Given the description of an element on the screen output the (x, y) to click on. 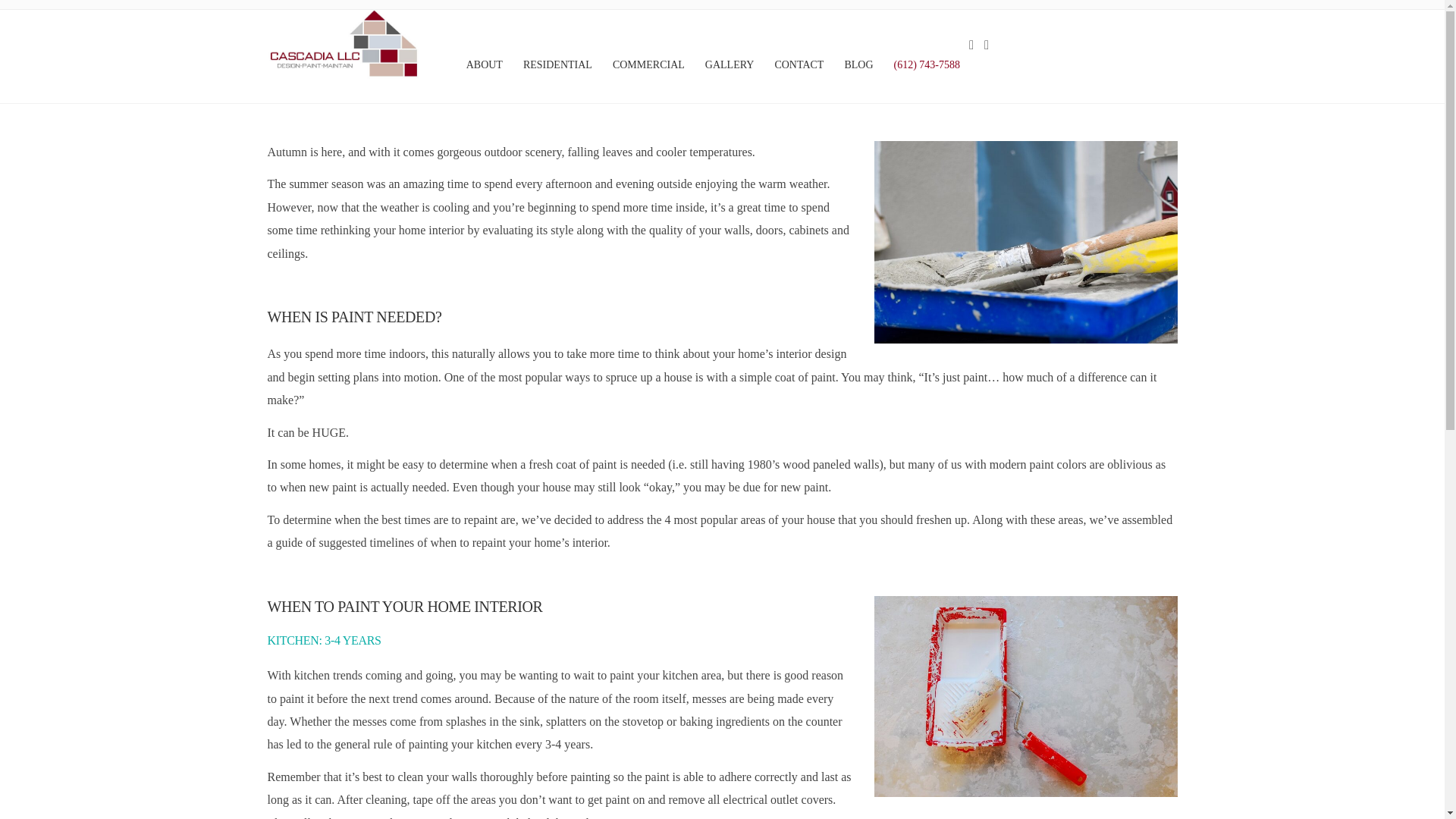
RESIDENTIAL (556, 63)
Facebook (976, 45)
COMMERCIAL (940, 791)
SERVICE AREAS (1096, 791)
COMMERCIAL (647, 63)
BLOG (1159, 791)
GALLERY (728, 63)
RESIDENTIAL (1016, 791)
CONTACT (797, 63)
 Instagram (991, 45)
